Given the description of an element on the screen output the (x, y) to click on. 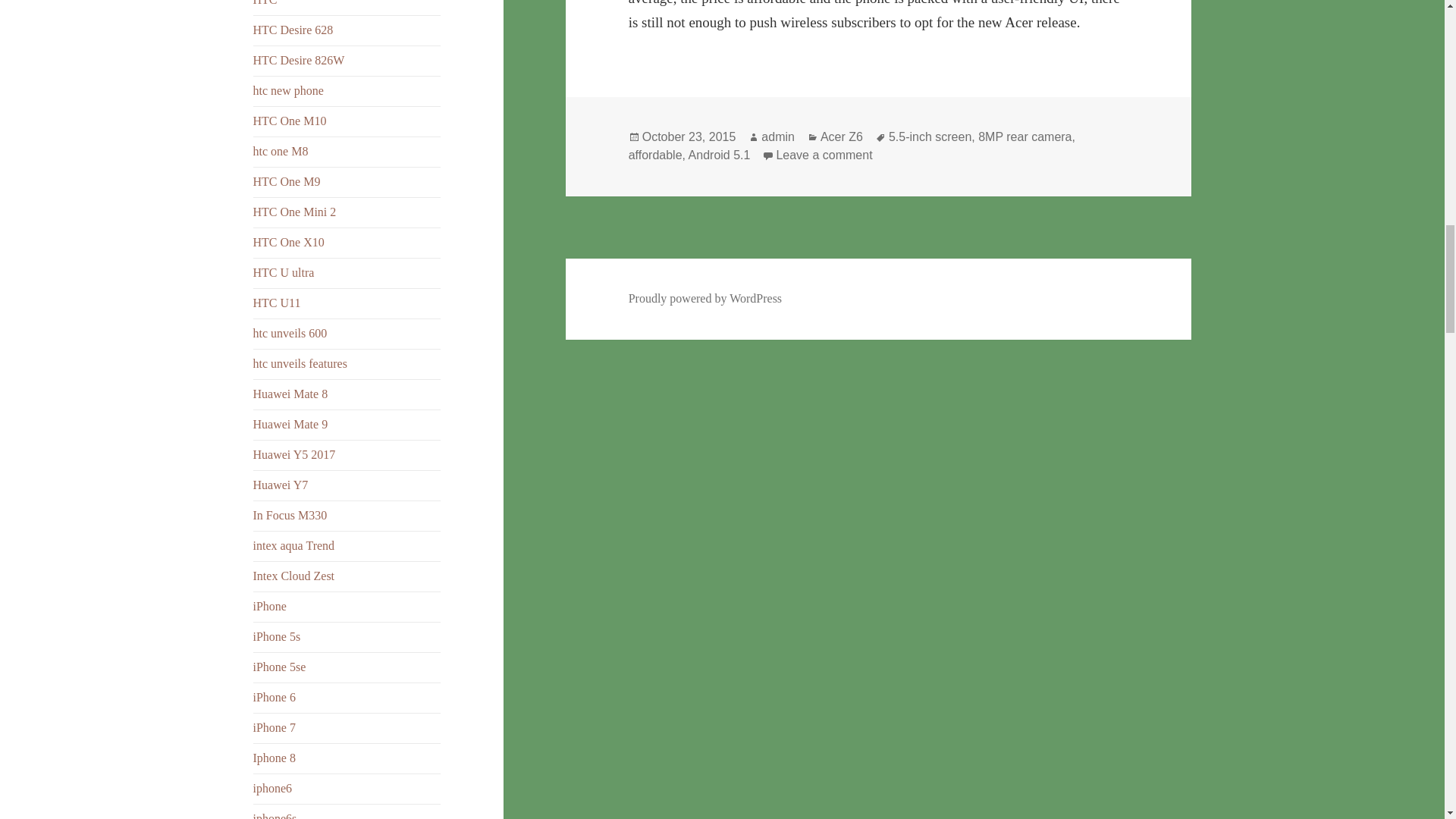
HTC One M9 (286, 181)
HTC Desire 826W (299, 60)
htc one M8 (280, 151)
HTC Desire 628 (293, 29)
htc new phone (288, 90)
HTC (265, 2)
HTC One M10 (289, 120)
